Given the description of an element on the screen output the (x, y) to click on. 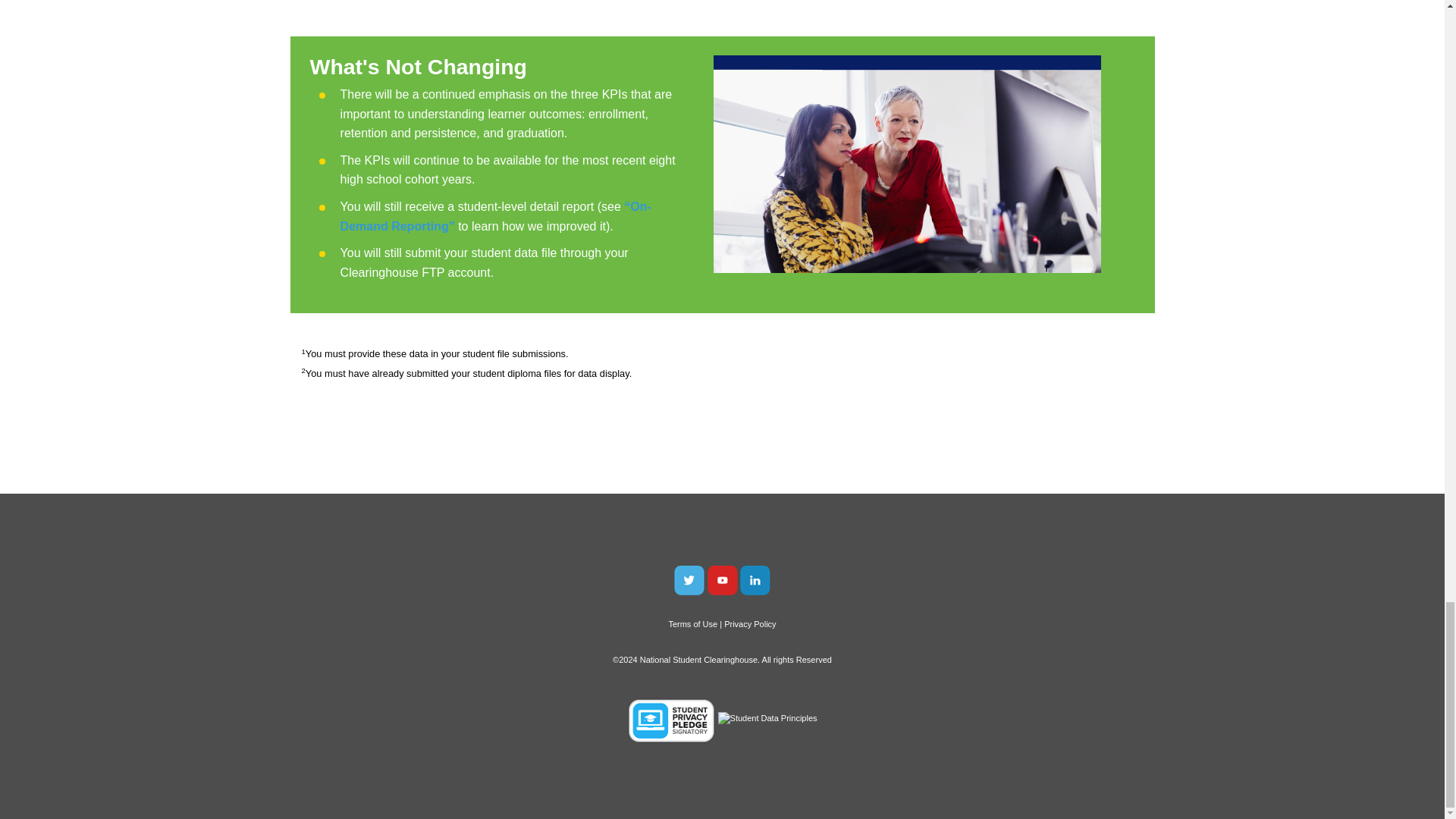
LinkedIn (754, 578)
YouTube (721, 578)
Twitter (689, 578)
Terms of Use (692, 623)
Privacy Policy (749, 623)
Privacy Policy (749, 623)
Terms of Use (692, 623)
